Given the description of an element on the screen output the (x, y) to click on. 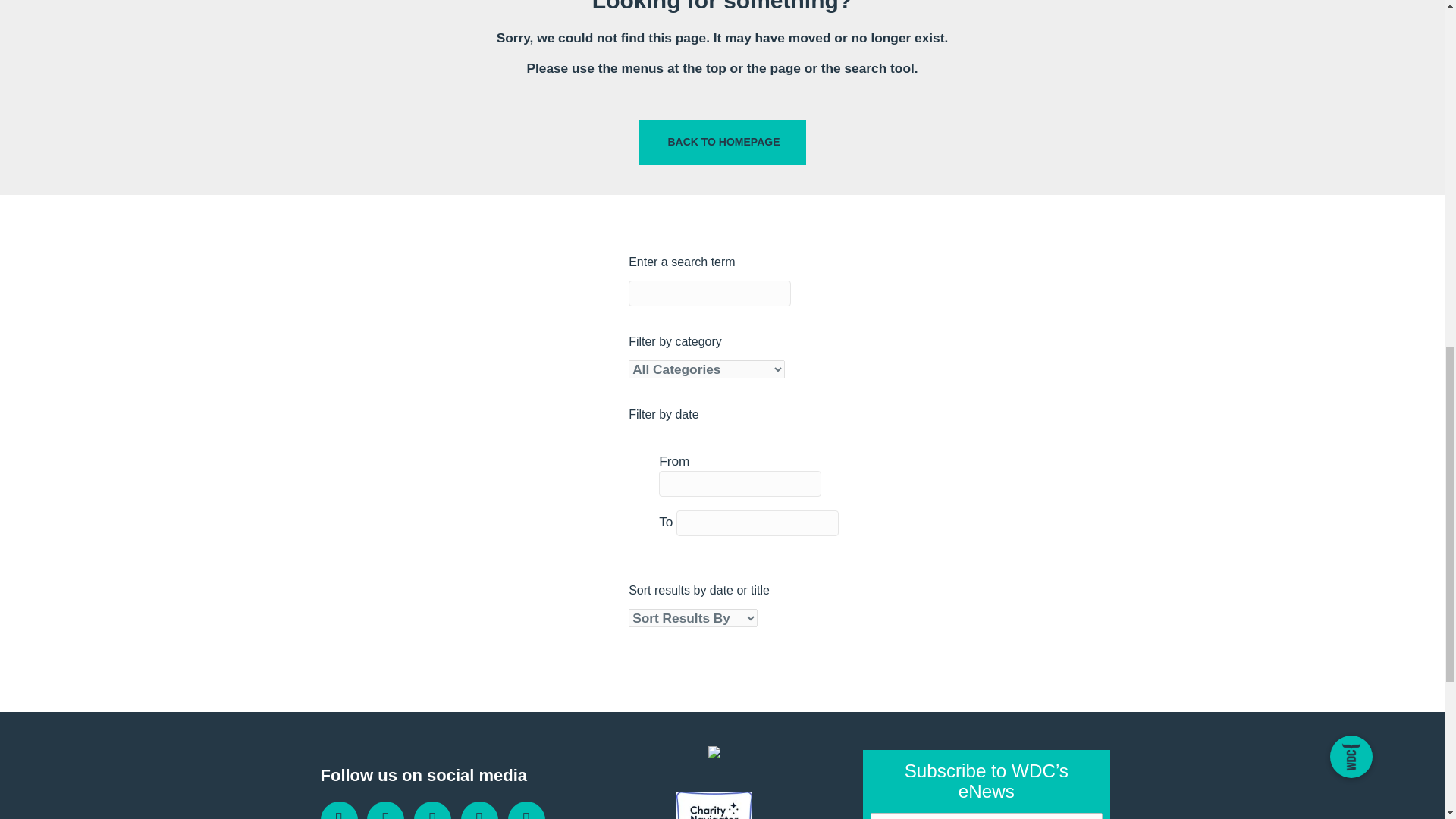
charity-navigator-web (714, 805)
